Given the description of an element on the screen output the (x, y) to click on. 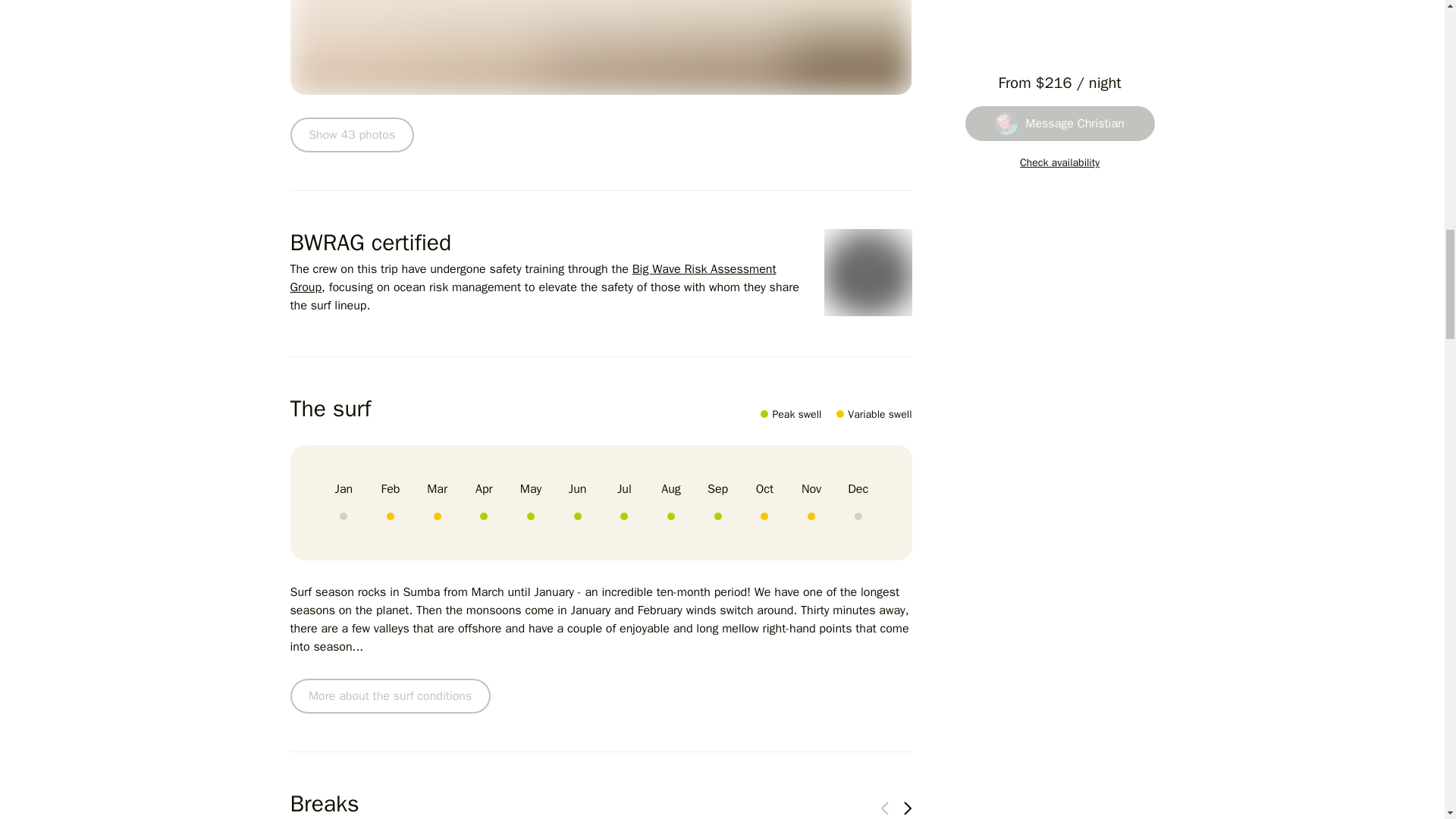
Big Wave Risk Assessment Group (532, 277)
More about the surf conditions (389, 695)
Show 43 photos (351, 134)
